Given the description of an element on the screen output the (x, y) to click on. 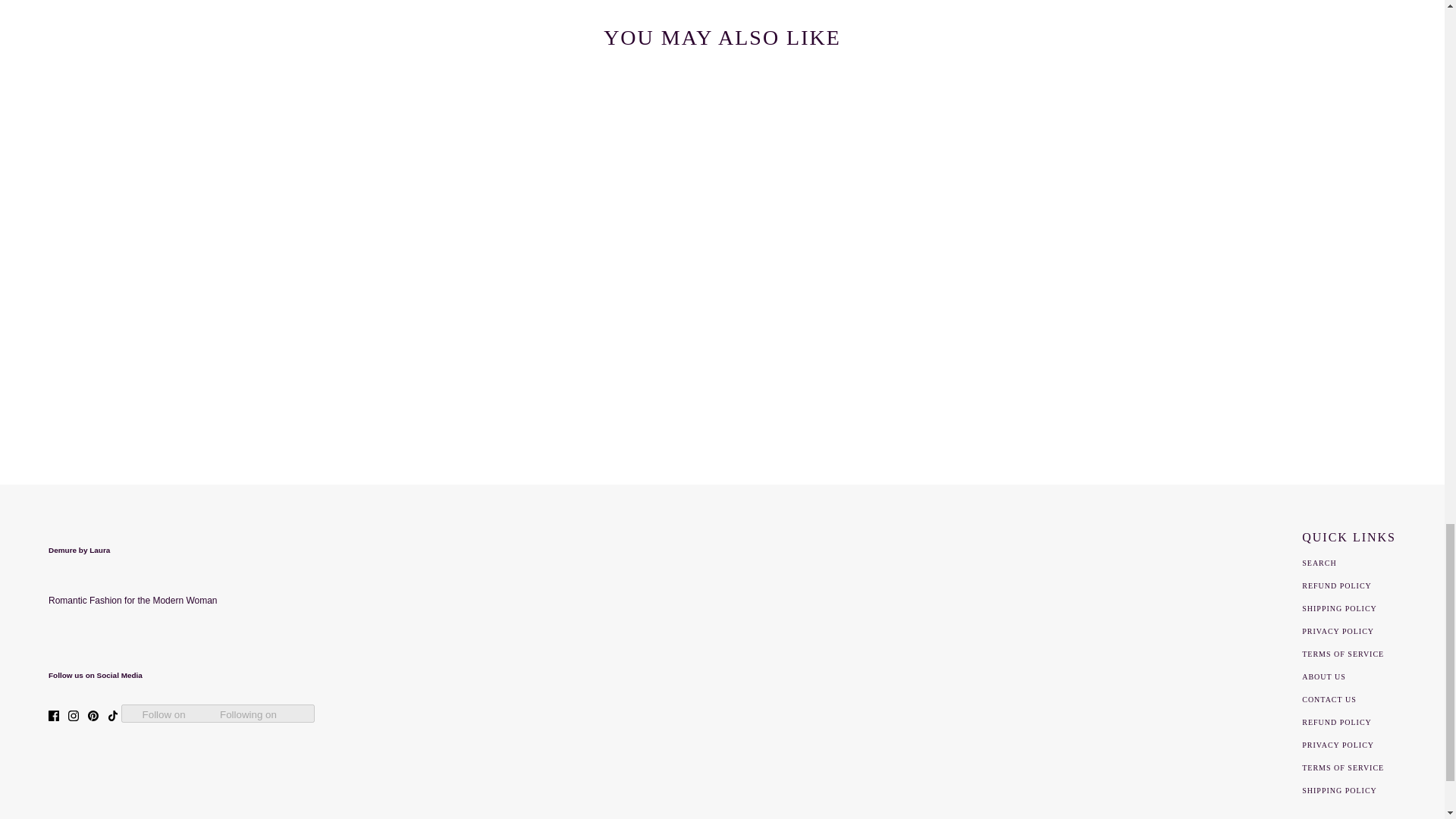
Terms of service (1342, 767)
About Us (1323, 676)
Terms of Service (1342, 654)
Refund policy (1336, 722)
Refund Policy (1336, 585)
Shipping policy (1339, 790)
Privacy Policy (1337, 631)
Shipping Policy (1339, 608)
Privacy policy (1337, 745)
Contact Us (1328, 699)
